Given the description of an element on the screen output the (x, y) to click on. 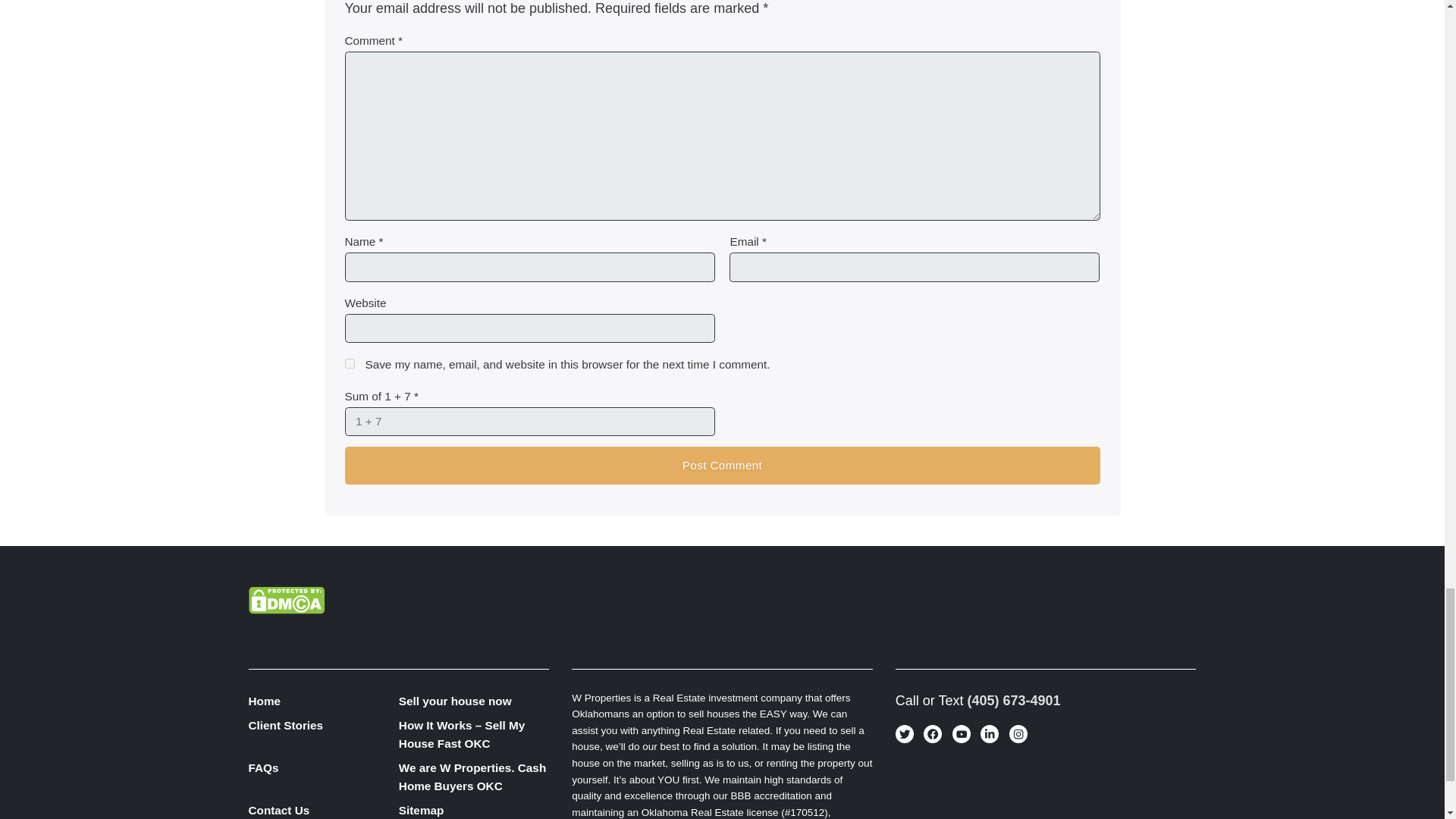
DMCA.com Protection Status (286, 598)
yes (348, 363)
Post Comment (721, 465)
